Given the description of an element on the screen output the (x, y) to click on. 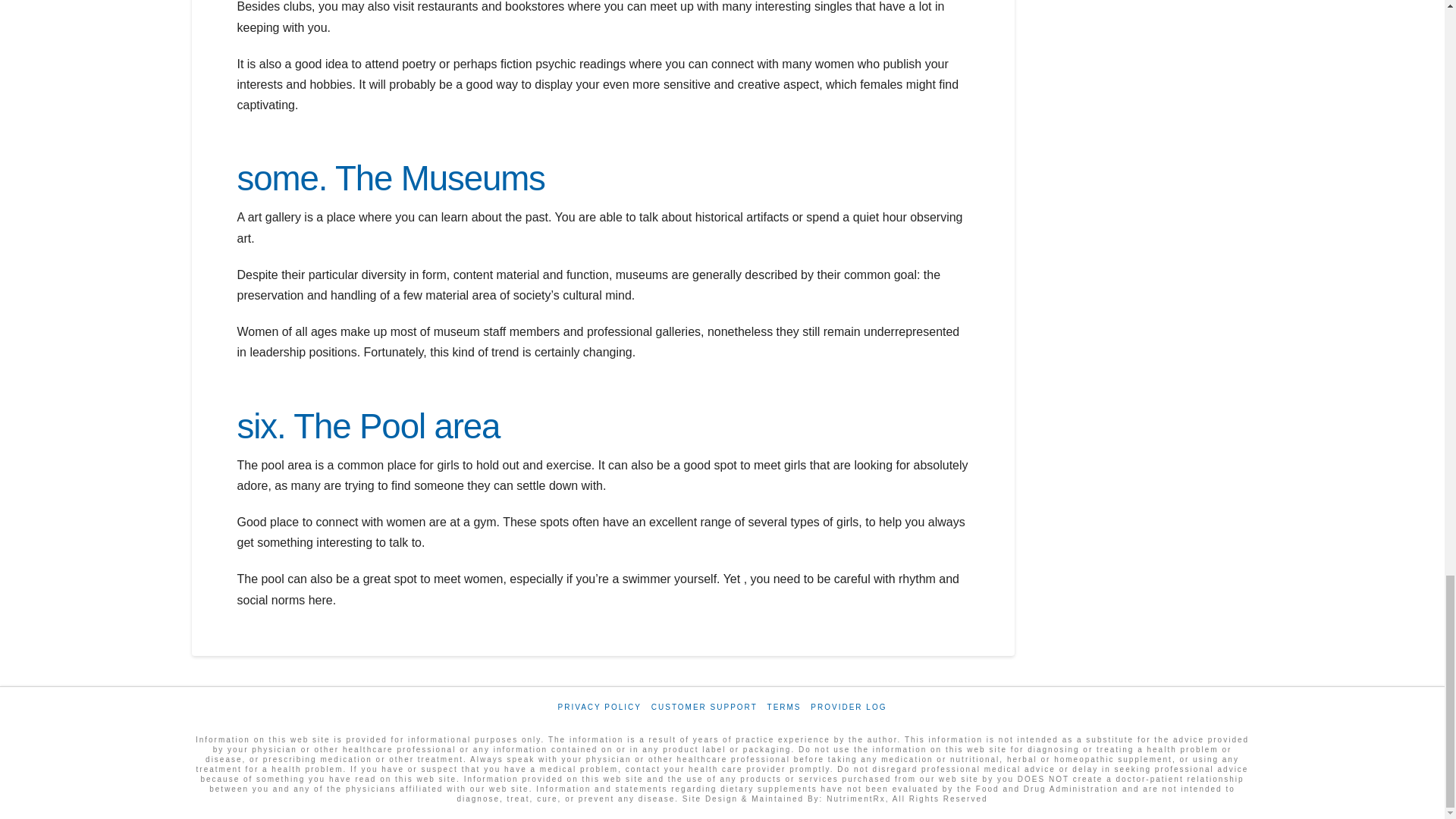
PRIVACY POLICY (599, 706)
CUSTOMER SUPPORT (703, 706)
TERMS (784, 706)
PROVIDER LOG (848, 706)
